Given the description of an element on the screen output the (x, y) to click on. 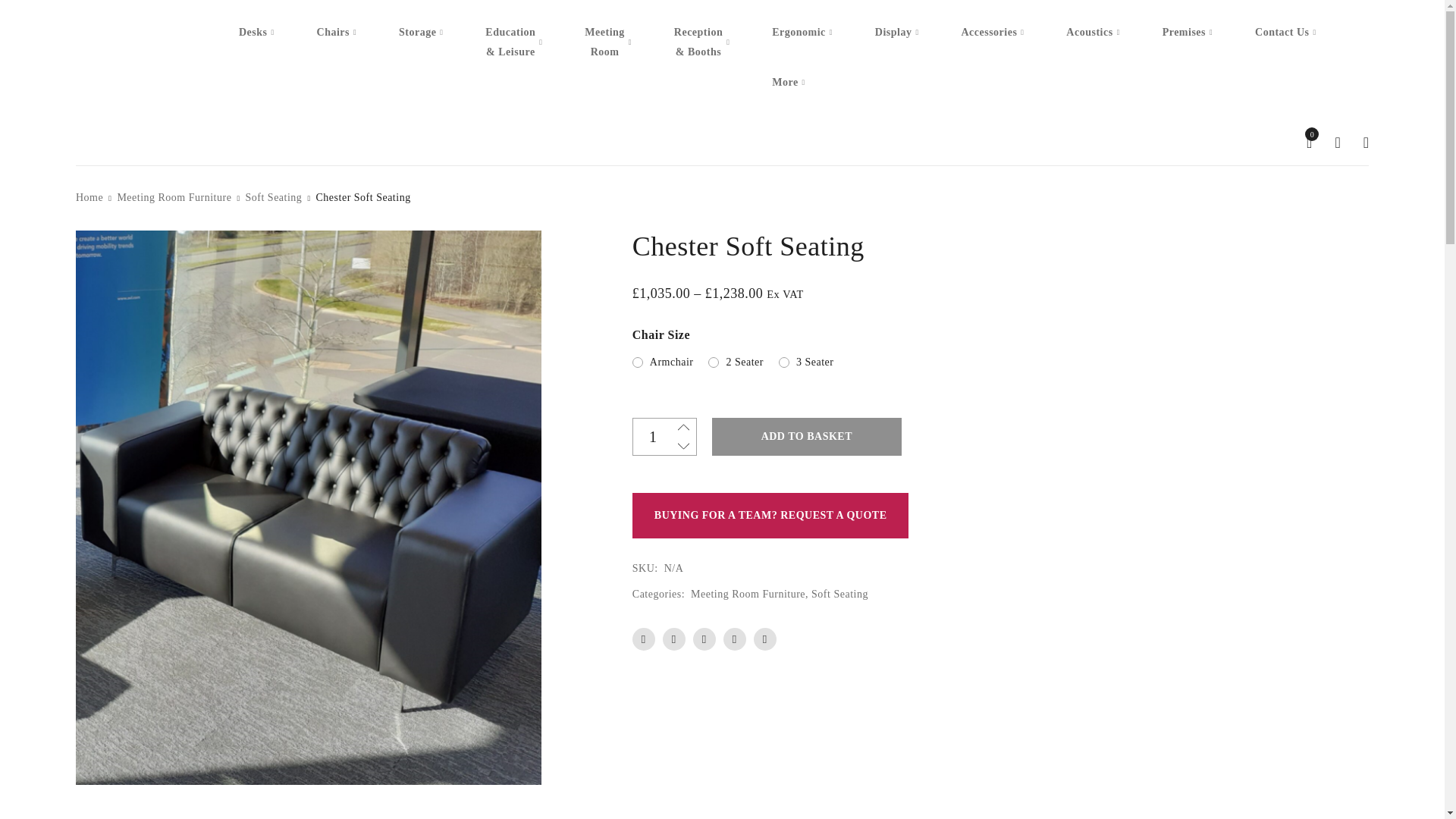
Search (1022, 178)
- (683, 446)
1 (664, 436)
